Given the description of an element on the screen output the (x, y) to click on. 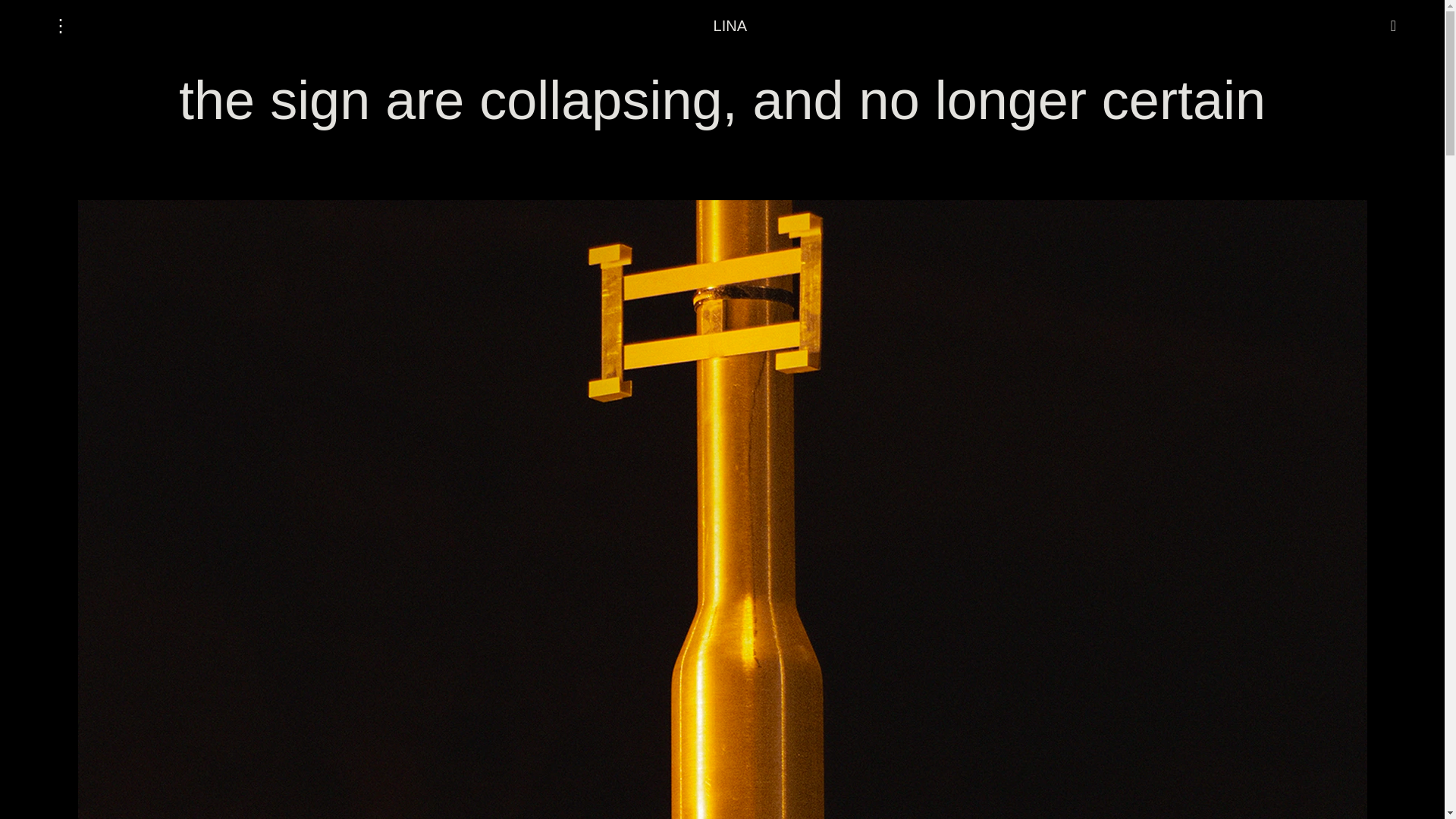
LINA (729, 25)
